Given the description of an element on the screen output the (x, y) to click on. 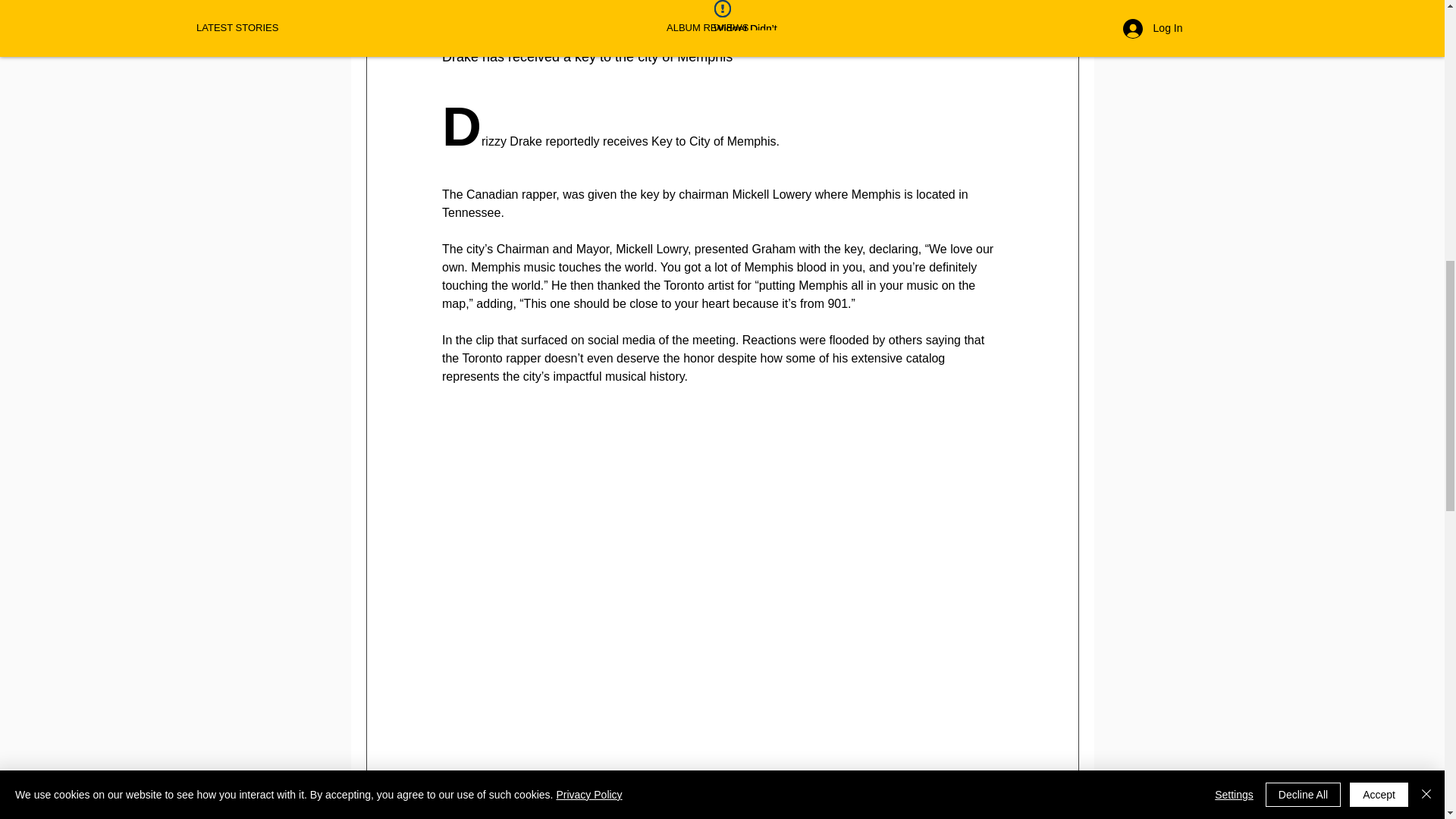
remote content (722, 603)
